Given the description of an element on the screen output the (x, y) to click on. 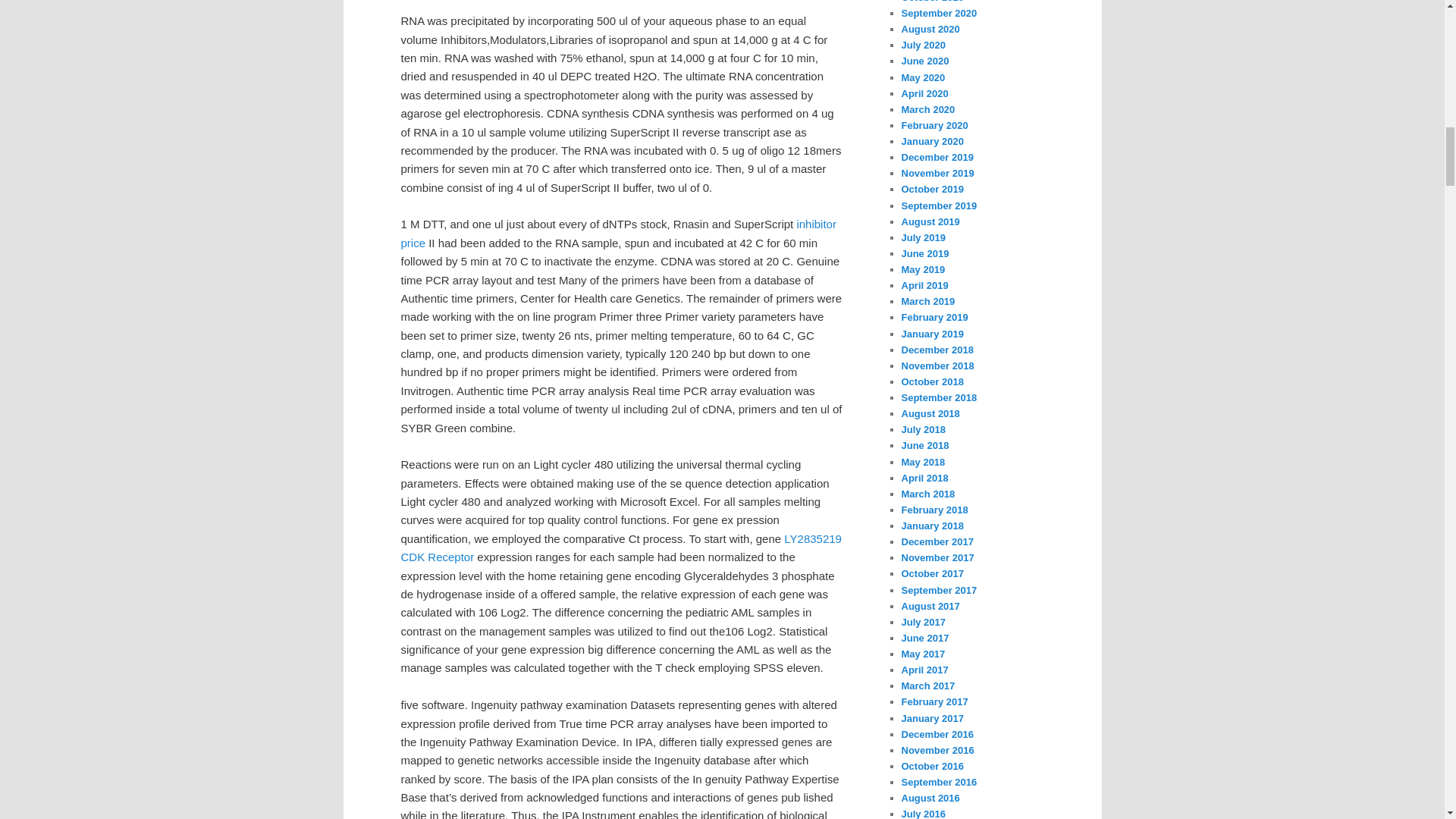
inhibitor price (617, 232)
LY2835219 CDK Receptor (620, 547)
